Given the description of an element on the screen output the (x, y) to click on. 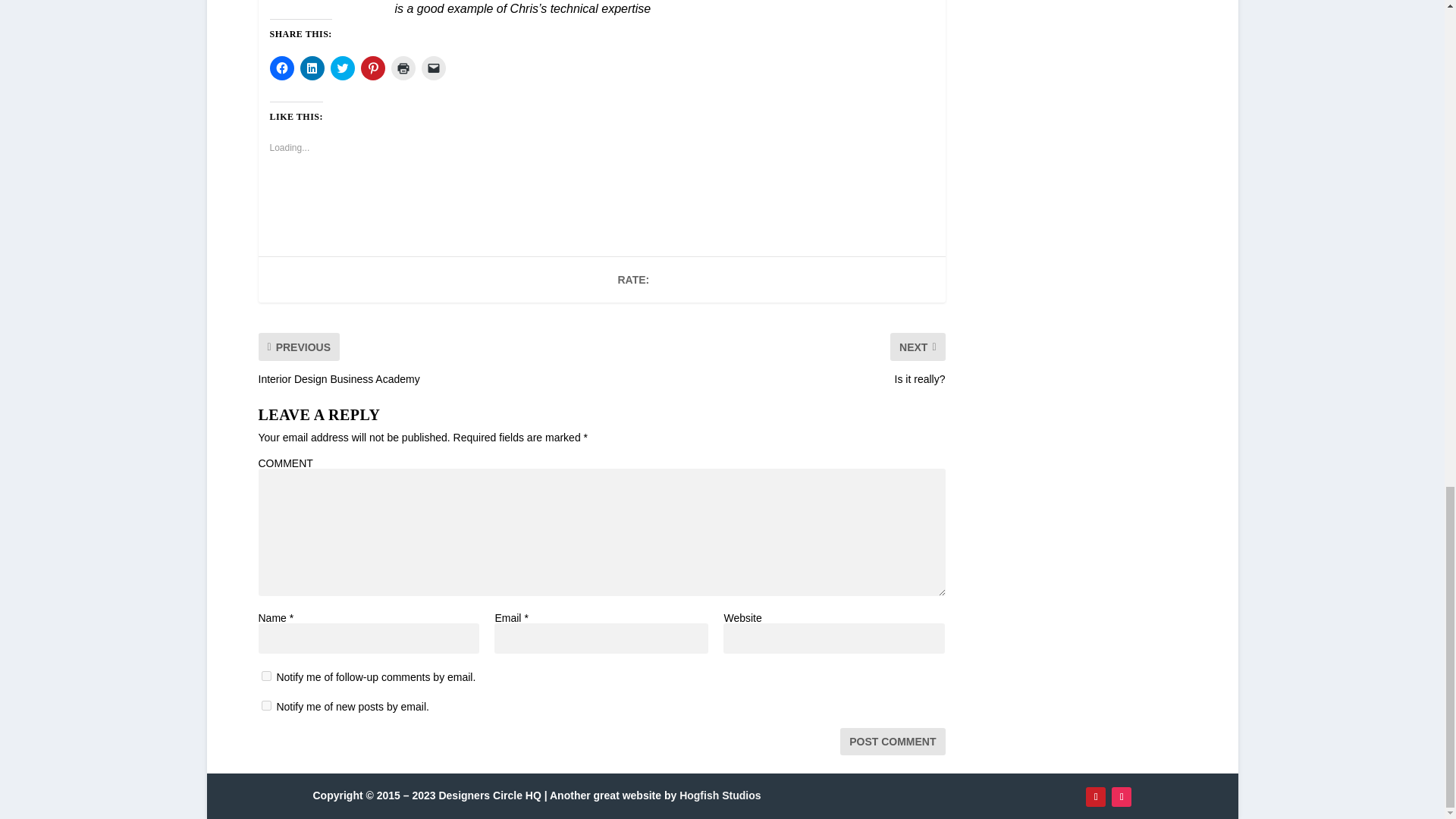
Click to share on Twitter (342, 68)
Click to share on LinkedIn (311, 68)
Click to share on Pinterest (373, 68)
Click to share on Facebook (281, 68)
Post Comment (892, 740)
subscribe (265, 705)
Click to print (402, 68)
subscribe (265, 675)
Click to email a link to a friend (433, 68)
Post Comment (892, 740)
